Given the description of an element on the screen output the (x, y) to click on. 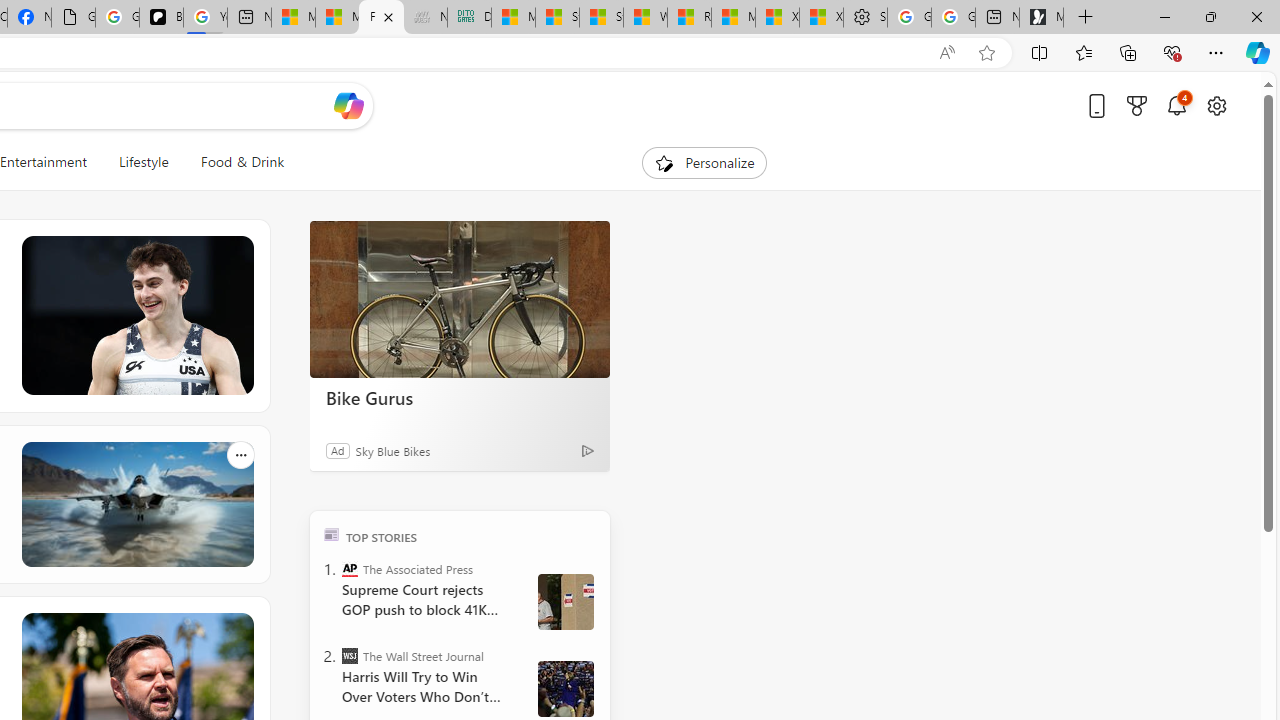
FOX News - MSN (381, 17)
The Wall Street Journal (349, 655)
Sky Blue Bikes (392, 450)
Be Smart | creating Science videos | Patreon (161, 17)
TOP (331, 534)
